Given the description of an element on the screen output the (x, y) to click on. 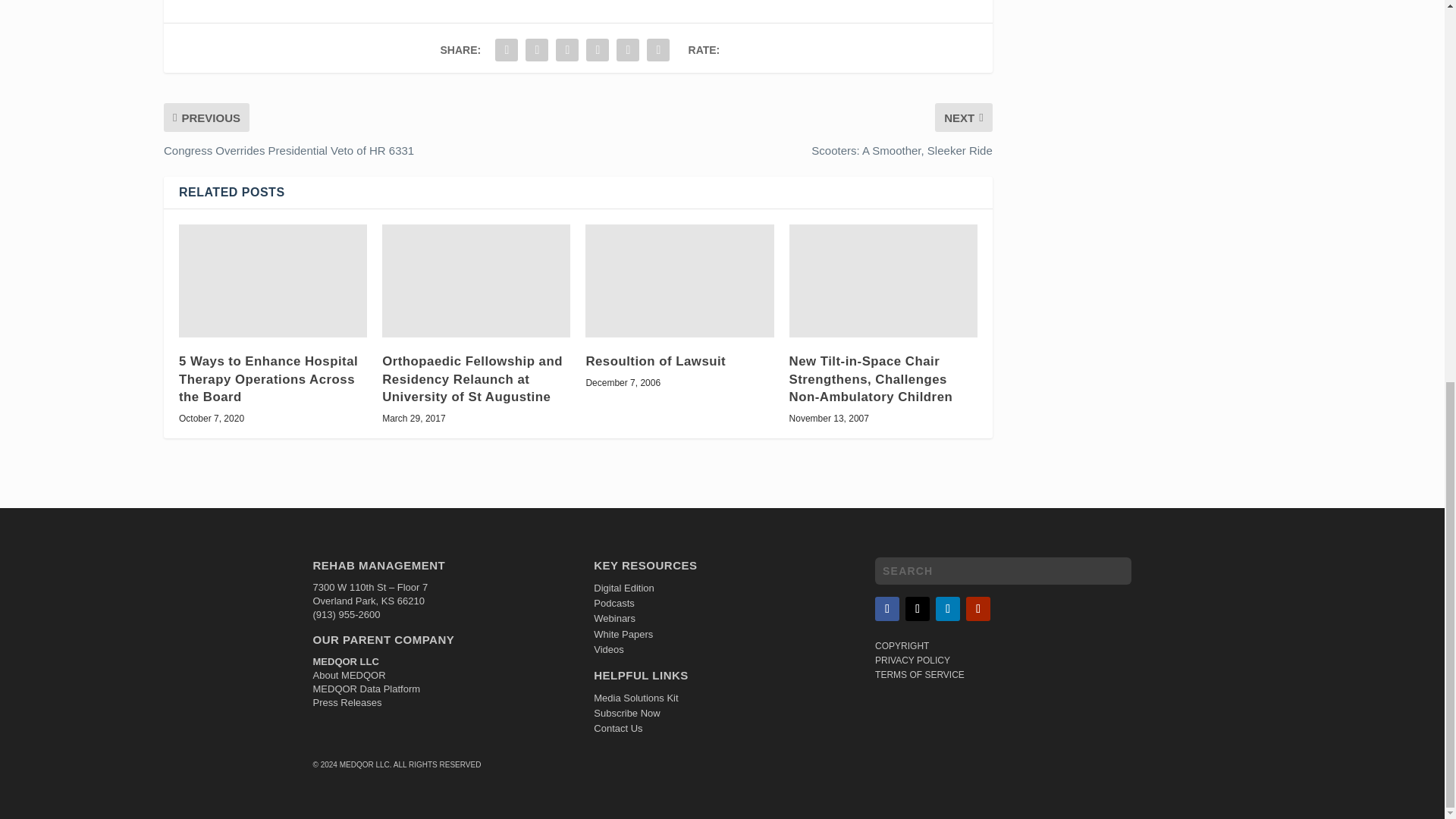
Resoultion of Lawsuit (679, 280)
Share "Companies Extend Contract" via LinkedIn (566, 50)
Follow on X (917, 608)
Follow on Facebook (887, 608)
Share "Companies Extend Contract" via Buffer (597, 50)
Share "Companies Extend Contract" via Email (627, 50)
Share "Companies Extend Contract" via Print (657, 50)
Share "Companies Extend Contract" via Facebook (506, 50)
